Given the description of an element on the screen output the (x, y) to click on. 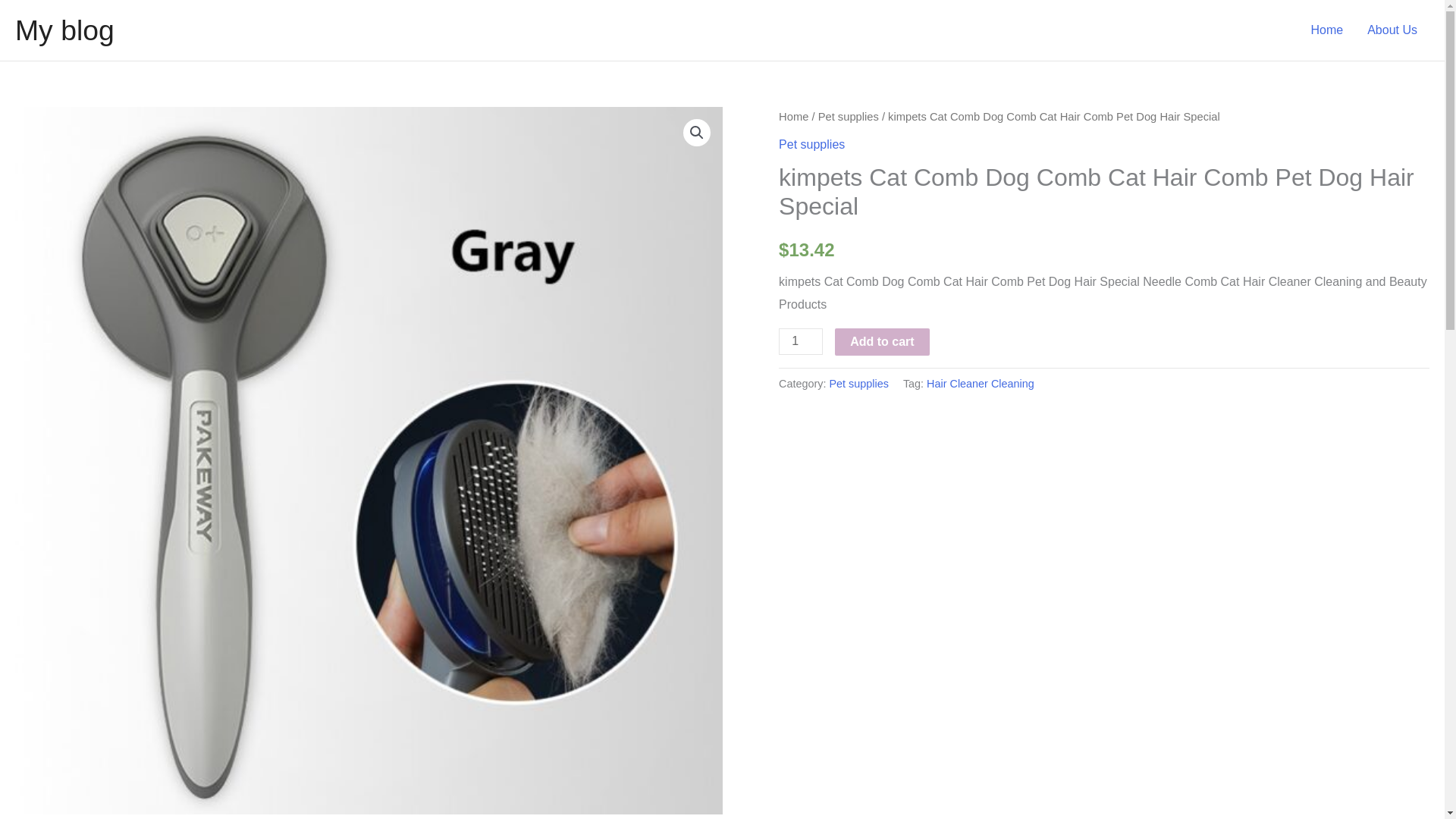
Pet supplies (858, 383)
My blog (64, 29)
Hair Cleaner Cleaning (979, 383)
Home (1326, 30)
Pet supplies (848, 116)
Pet supplies (811, 144)
Qty (800, 341)
Home (793, 116)
Add to cart (881, 341)
